Given the description of an element on the screen output the (x, y) to click on. 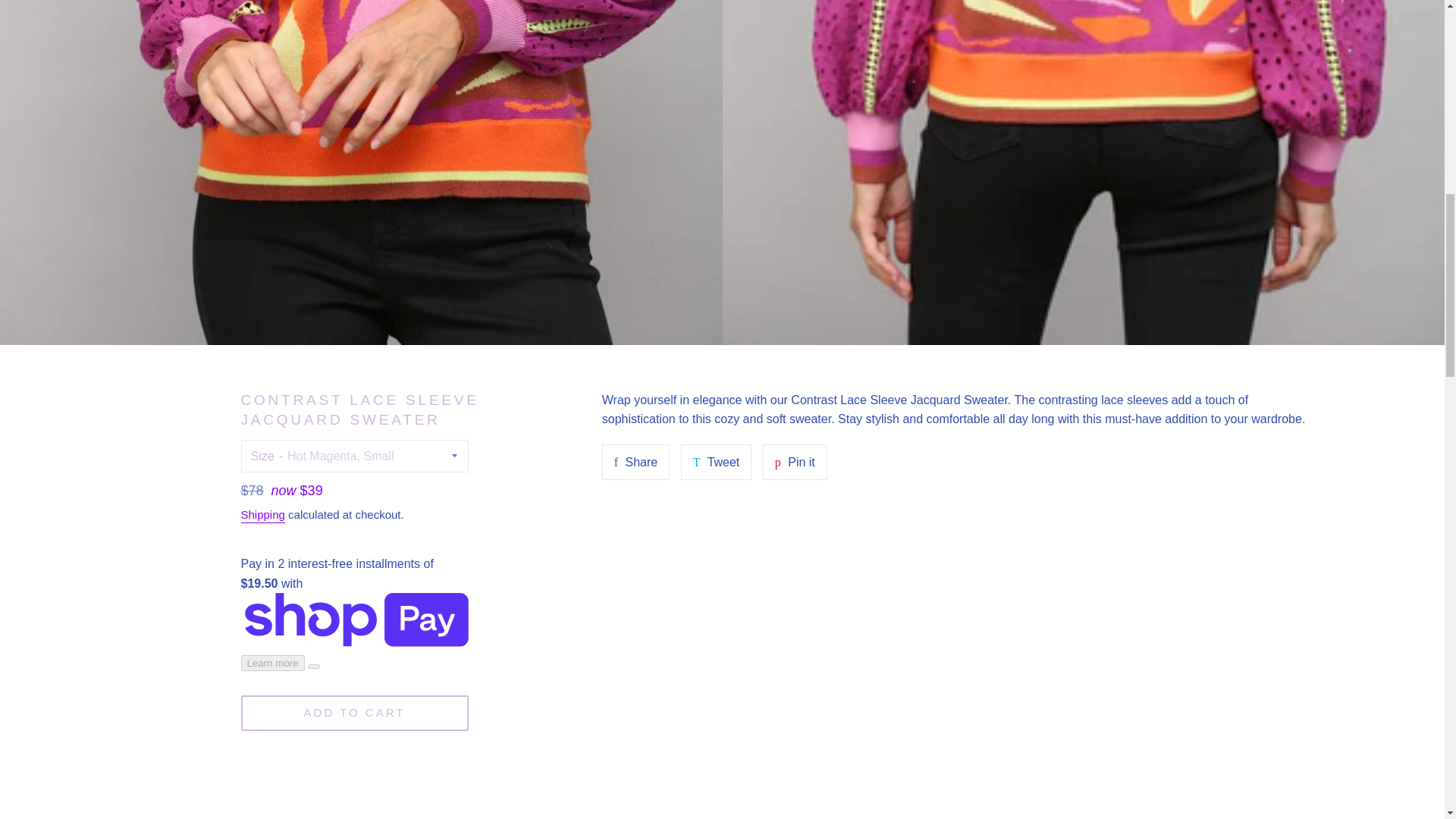
Tweet on Twitter (716, 462)
Share on Facebook (635, 462)
Pin on Pinterest (794, 462)
